Given the description of an element on the screen output the (x, y) to click on. 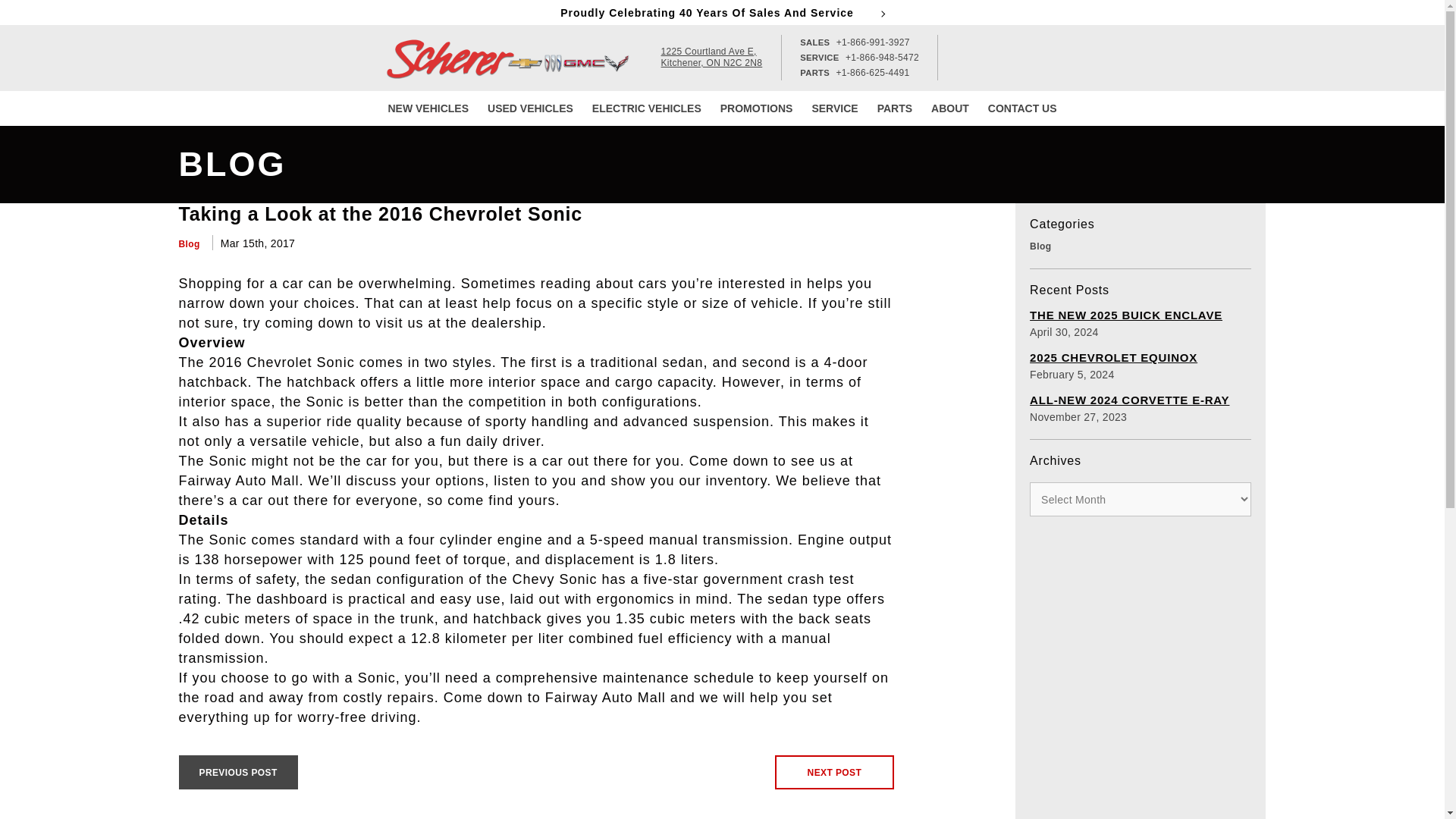
USED VEHICLES (530, 108)
ELECTRIC VEHICLES (711, 56)
NEW VEHICLES (646, 108)
